Given the description of an element on the screen output the (x, y) to click on. 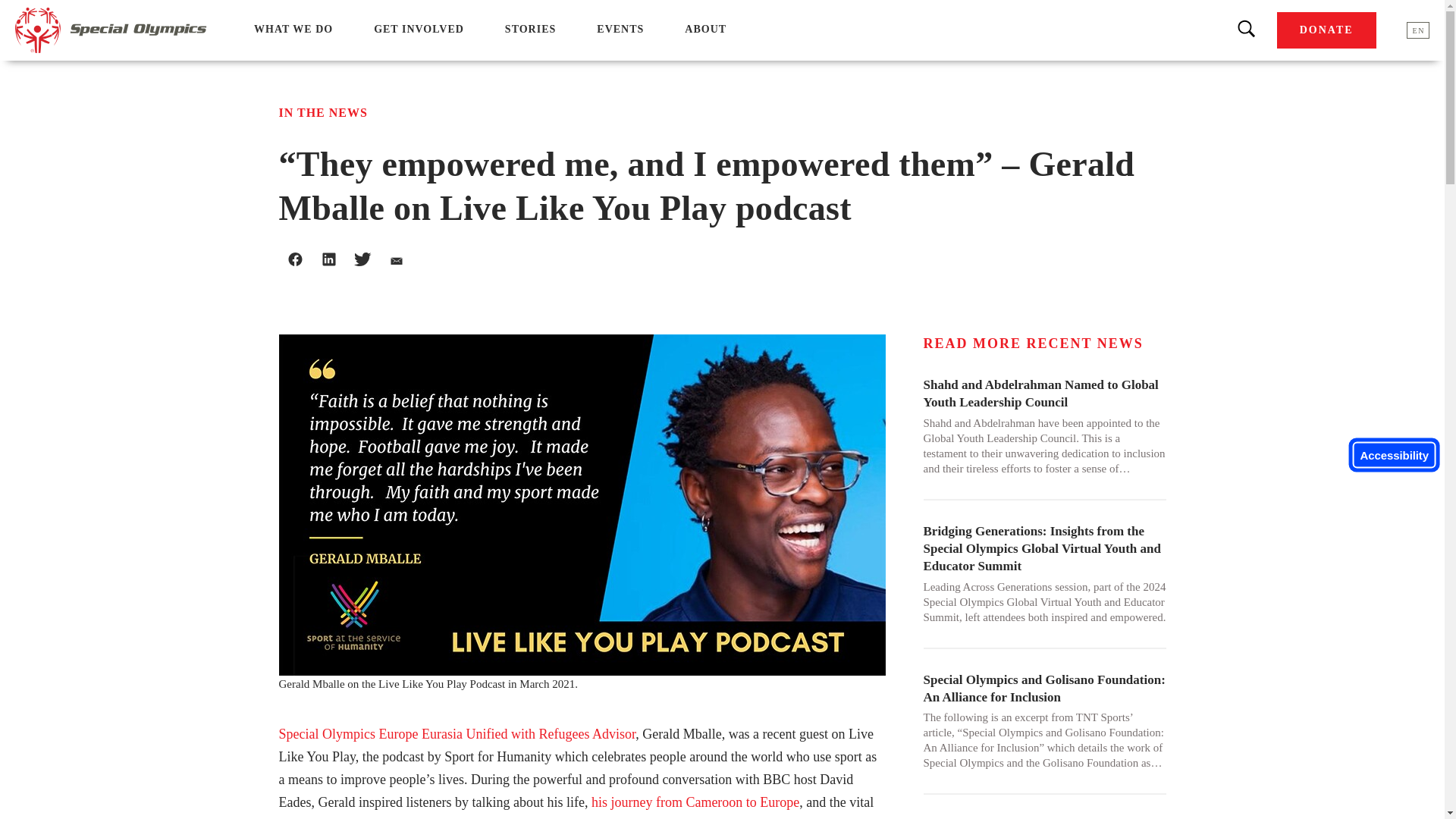
Accessibility Menu (1394, 455)
EVENTS (619, 29)
STORIES (530, 29)
GET INVOLVED (419, 29)
WHAT WE DO (293, 29)
